Given the description of an element on the screen output the (x, y) to click on. 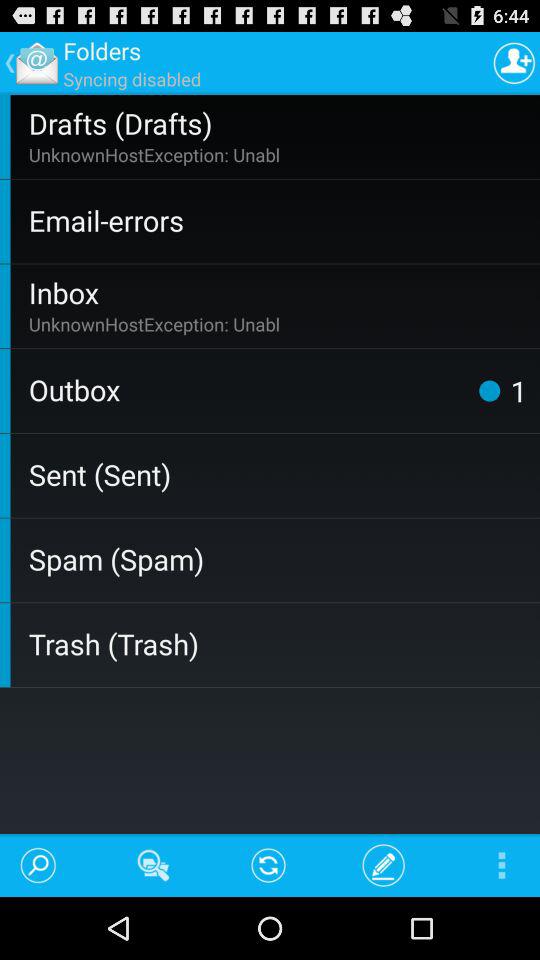
tap the item to the right of the syncing disabled app (514, 62)
